Given the description of an element on the screen output the (x, y) to click on. 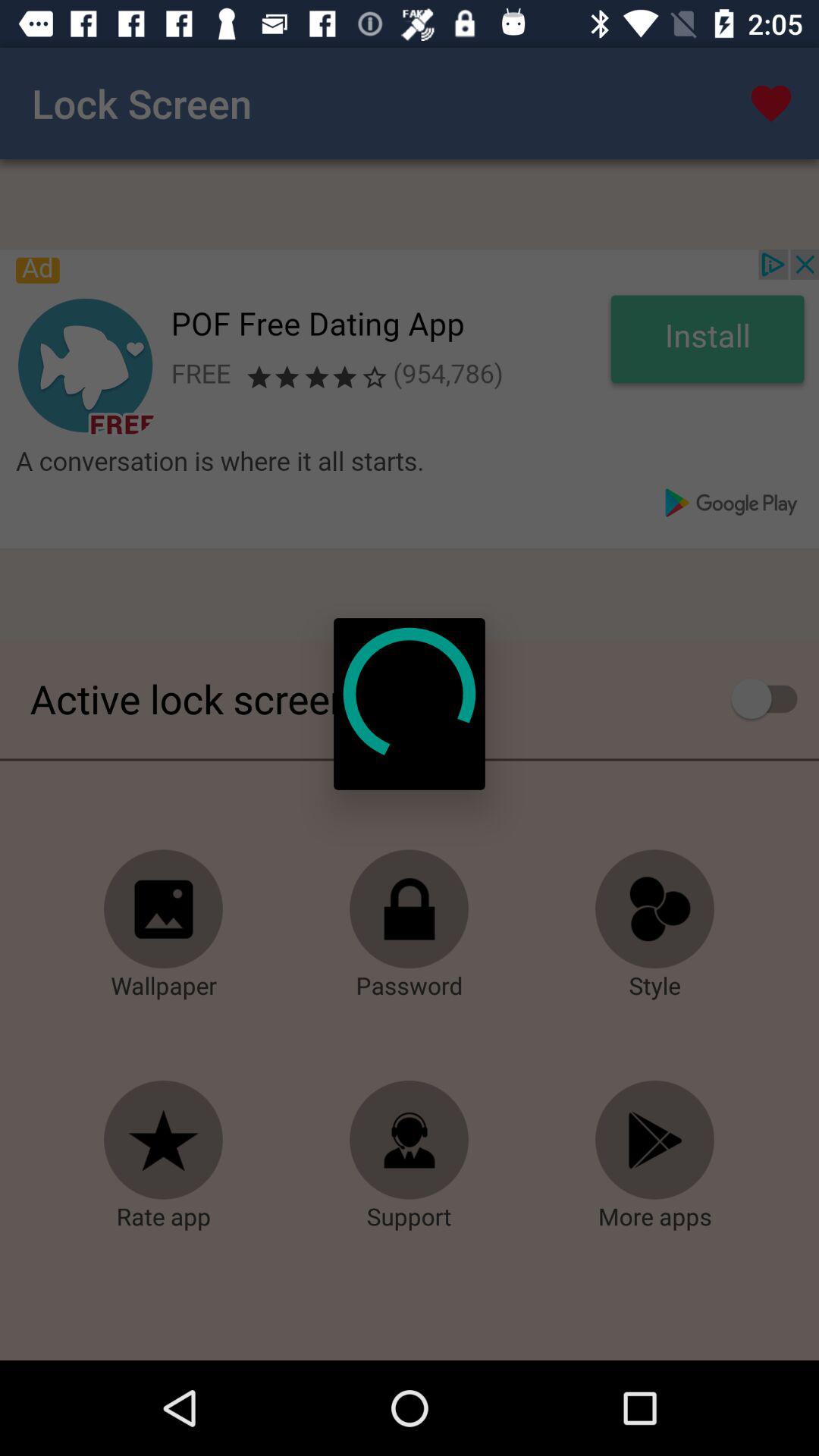
more apps download (654, 1140)
